Given the description of an element on the screen output the (x, y) to click on. 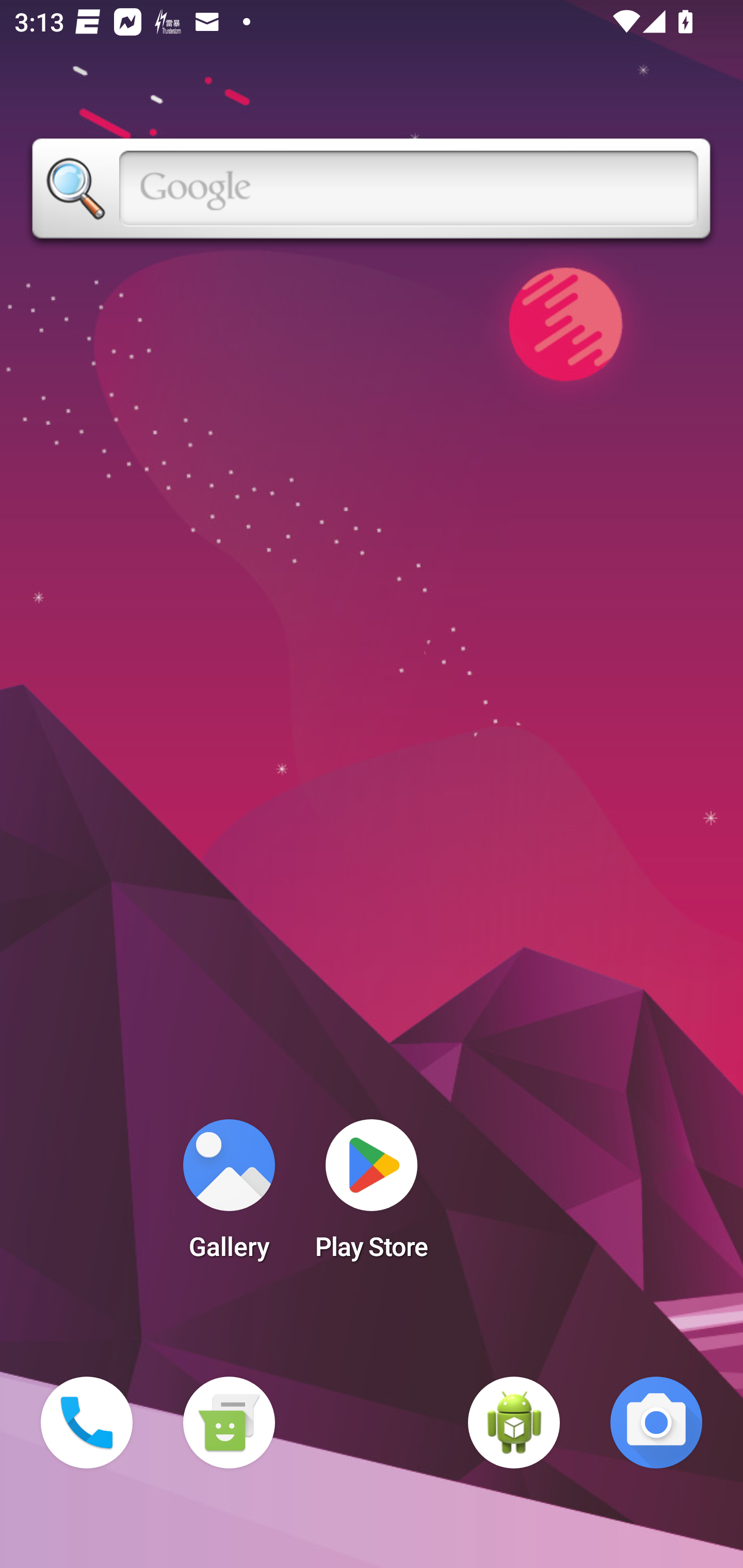
Gallery (228, 1195)
Play Store (371, 1195)
Phone (86, 1422)
Messaging (228, 1422)
WebView Browser Tester (513, 1422)
Camera (656, 1422)
